Given the description of an element on the screen output the (x, y) to click on. 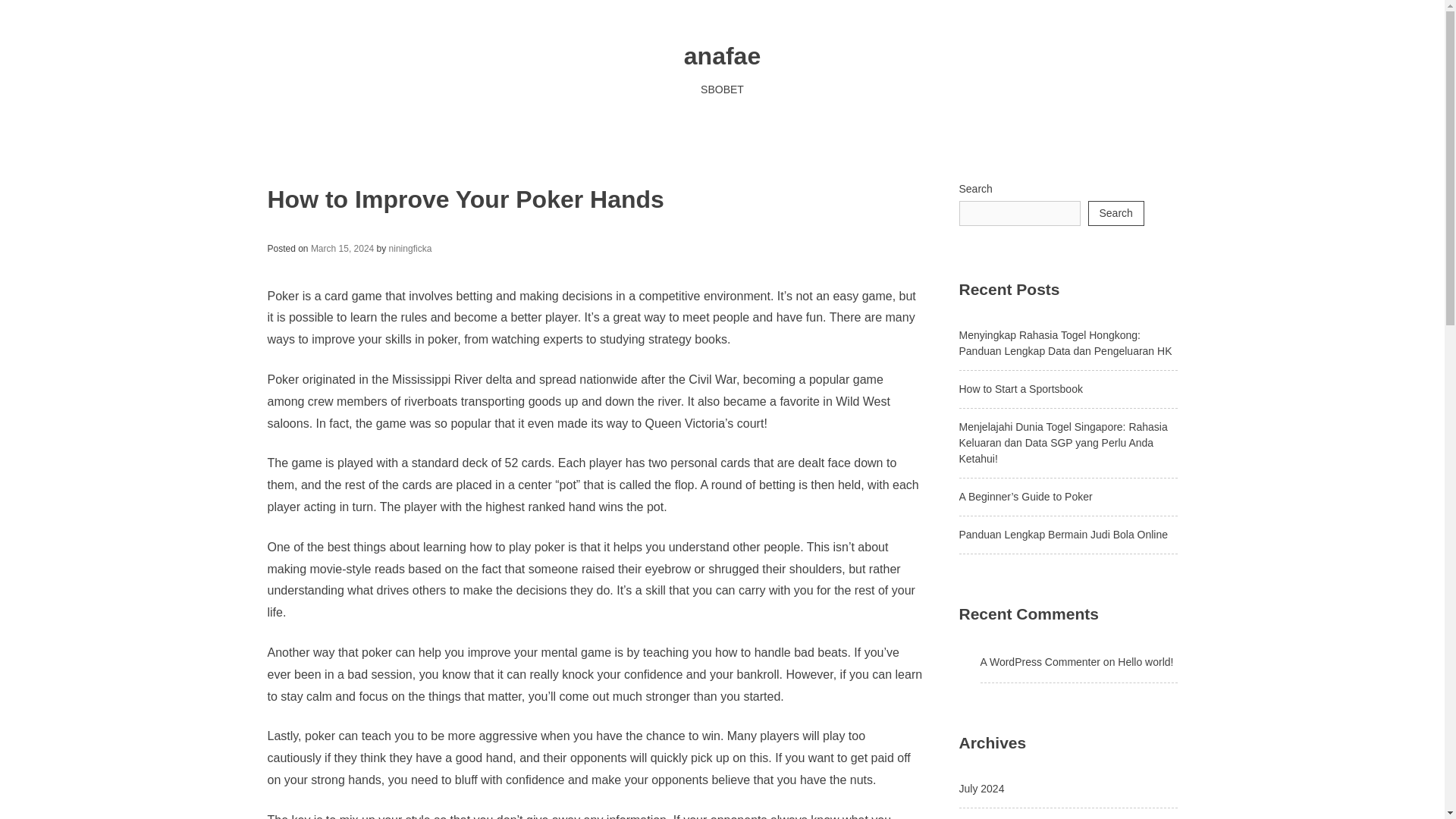
SBOBET (722, 89)
July 2024 (981, 788)
How to Start a Sportsbook (1019, 388)
Search (1114, 213)
anafae (722, 55)
Panduan Lengkap Bermain Judi Bola Online (1062, 534)
Hello world! (1145, 662)
niningficka (410, 248)
March 15, 2024 (342, 248)
A WordPress Commenter (1039, 662)
